Given the description of an element on the screen output the (x, y) to click on. 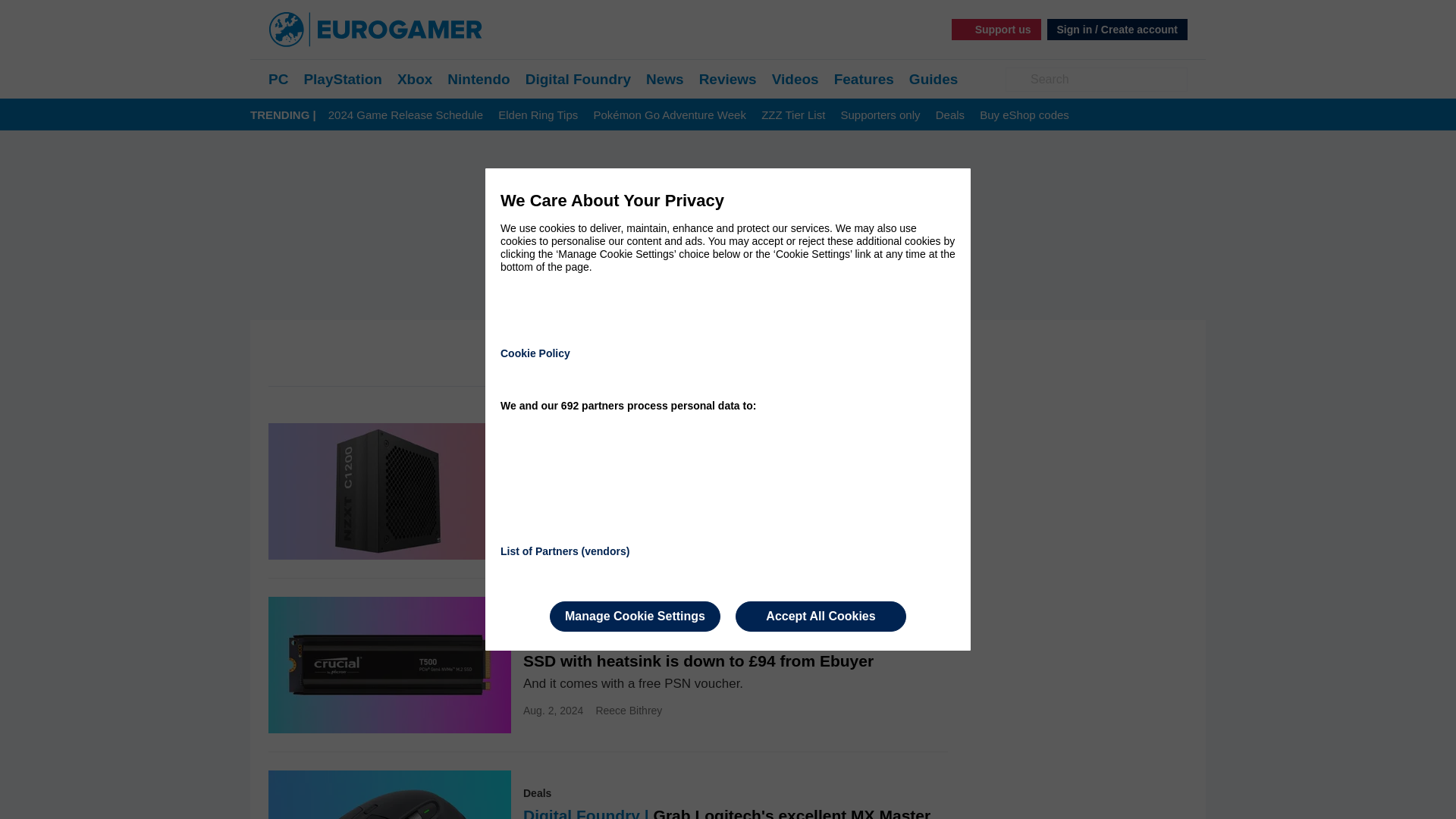
Reviews (727, 78)
Features (863, 78)
Deals (949, 114)
Digital Foundry (577, 78)
2024 Game Release Schedule (406, 114)
Supporters only (880, 114)
2024 Game Release Schedule (406, 114)
Buy eShop codes (1023, 114)
Nintendo (477, 78)
Xbox (414, 78)
PlayStation (341, 78)
PlayStation (341, 78)
Features (863, 78)
Nintendo (477, 78)
Deals (949, 114)
